Given the description of an element on the screen output the (x, y) to click on. 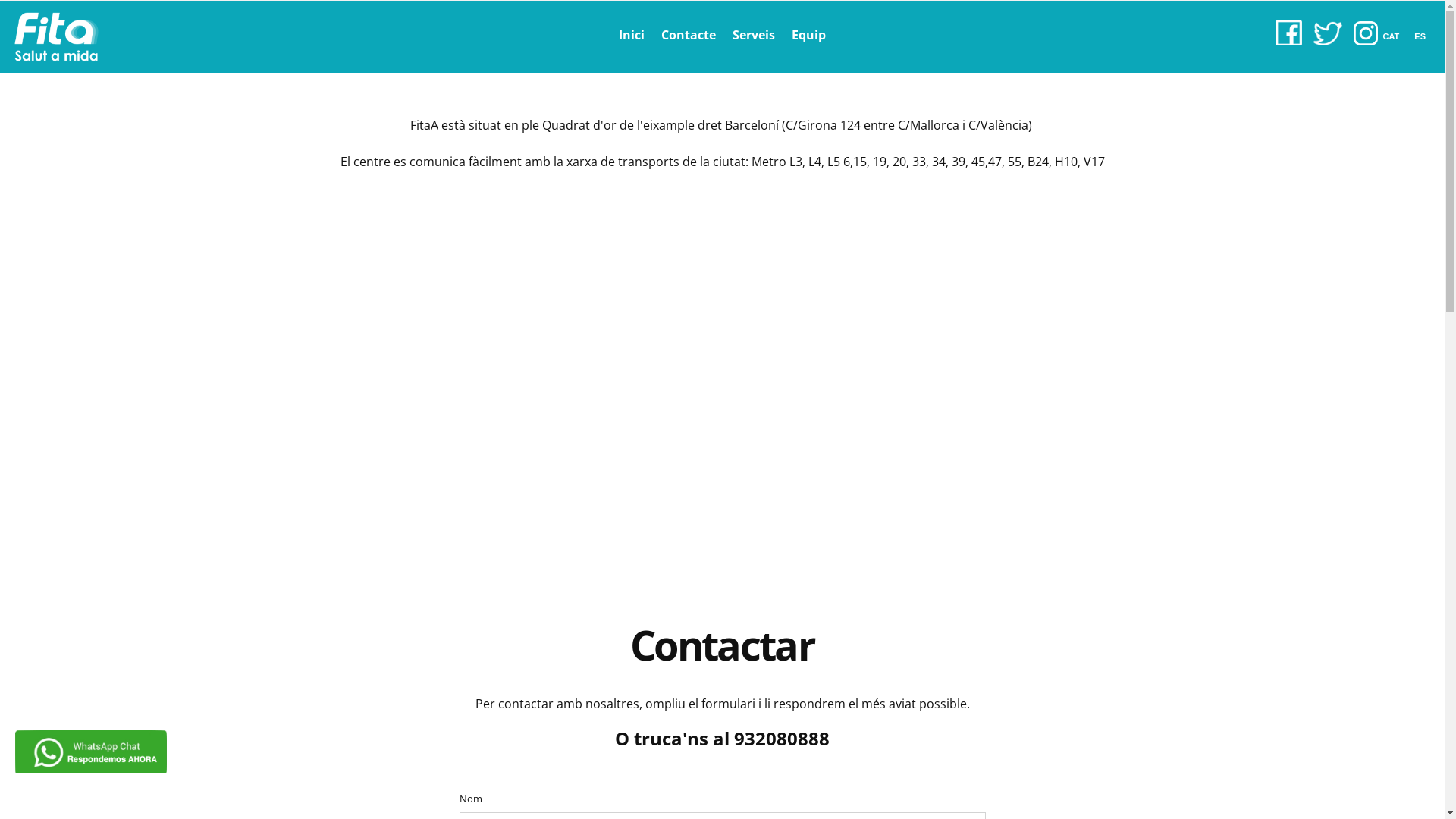
Contacte Element type: text (688, 34)
Inici Element type: text (631, 34)
Serveis Element type: text (753, 34)
ES Element type: text (1423, 36)
Equip Element type: text (808, 34)
CAT Element type: text (1395, 36)
FitaA Element type: hover (56, 36)
